Given the description of an element on the screen output the (x, y) to click on. 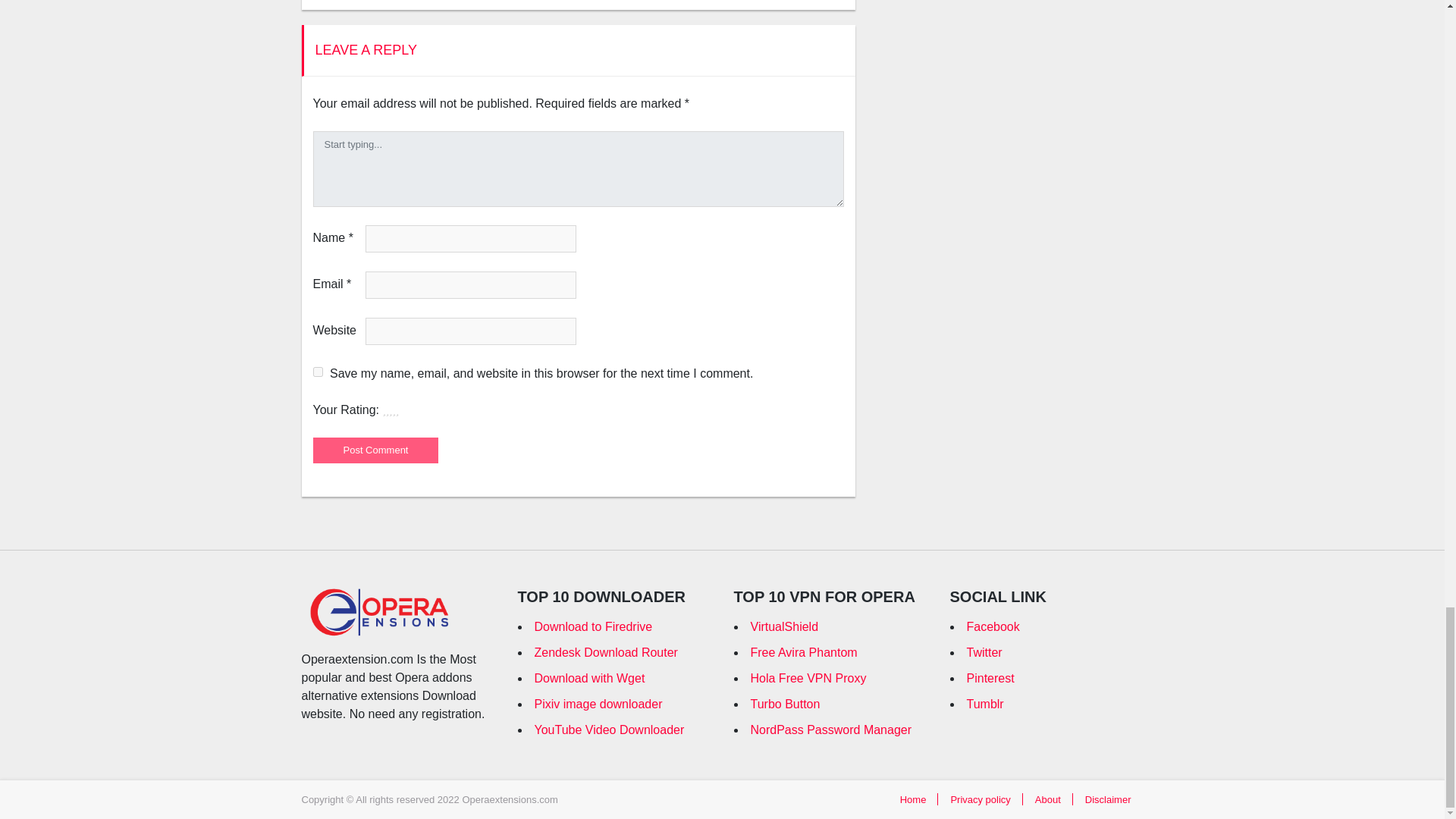
Post Comment (375, 450)
yes (317, 371)
